Given the description of an element on the screen output the (x, y) to click on. 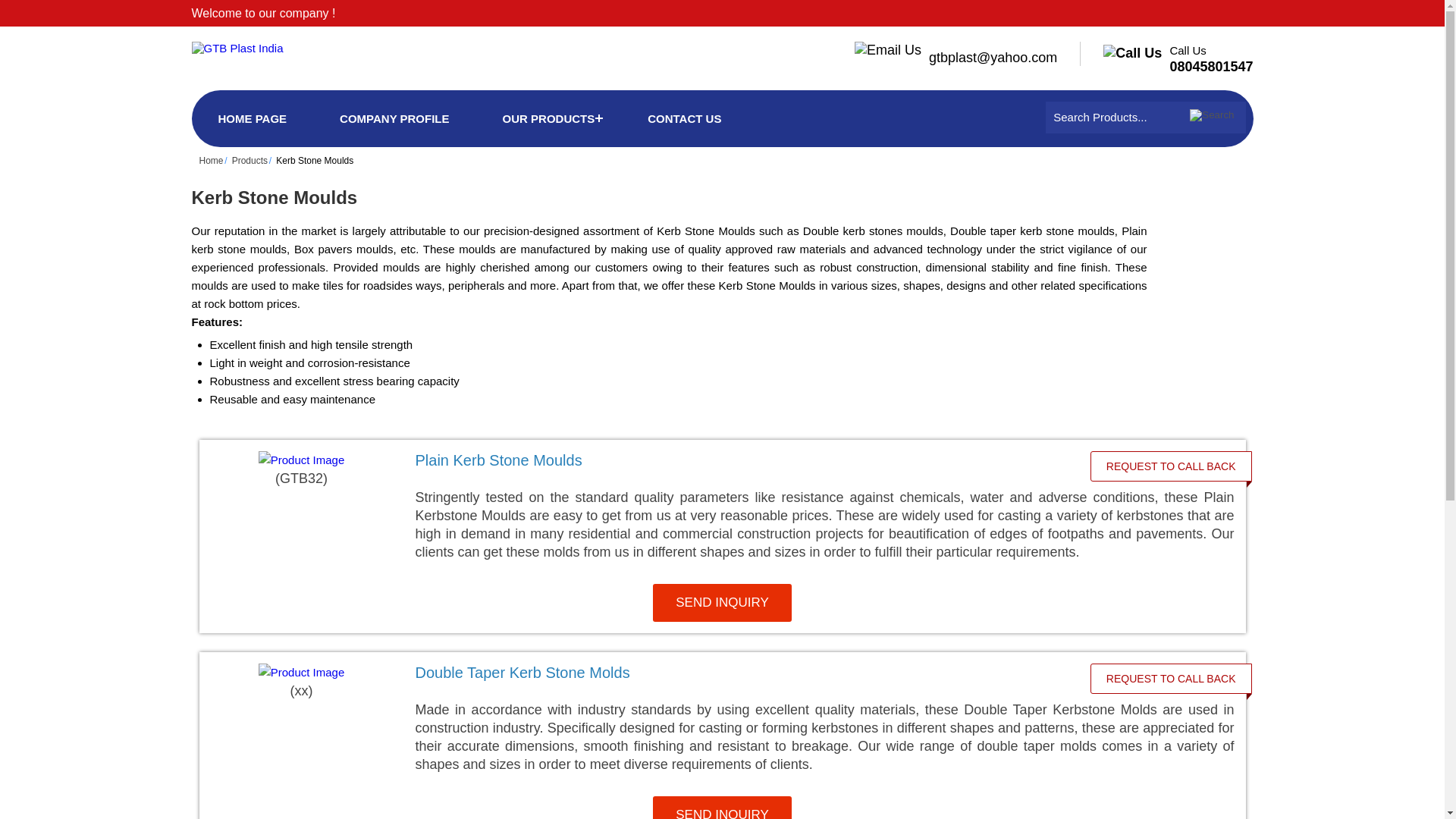
HOME PAGE (251, 118)
Double Taper Kerb Stone Molds (742, 672)
Call Us (1136, 51)
Email Us (891, 49)
submit (1213, 114)
COMPANY PROFILE (394, 118)
Search (1213, 114)
Plain Kerb Stone Moulds (742, 460)
OUR PRODUCTS (548, 118)
GTB Plast India (236, 47)
Search Products... (1113, 117)
